Given the description of an element on the screen output the (x, y) to click on. 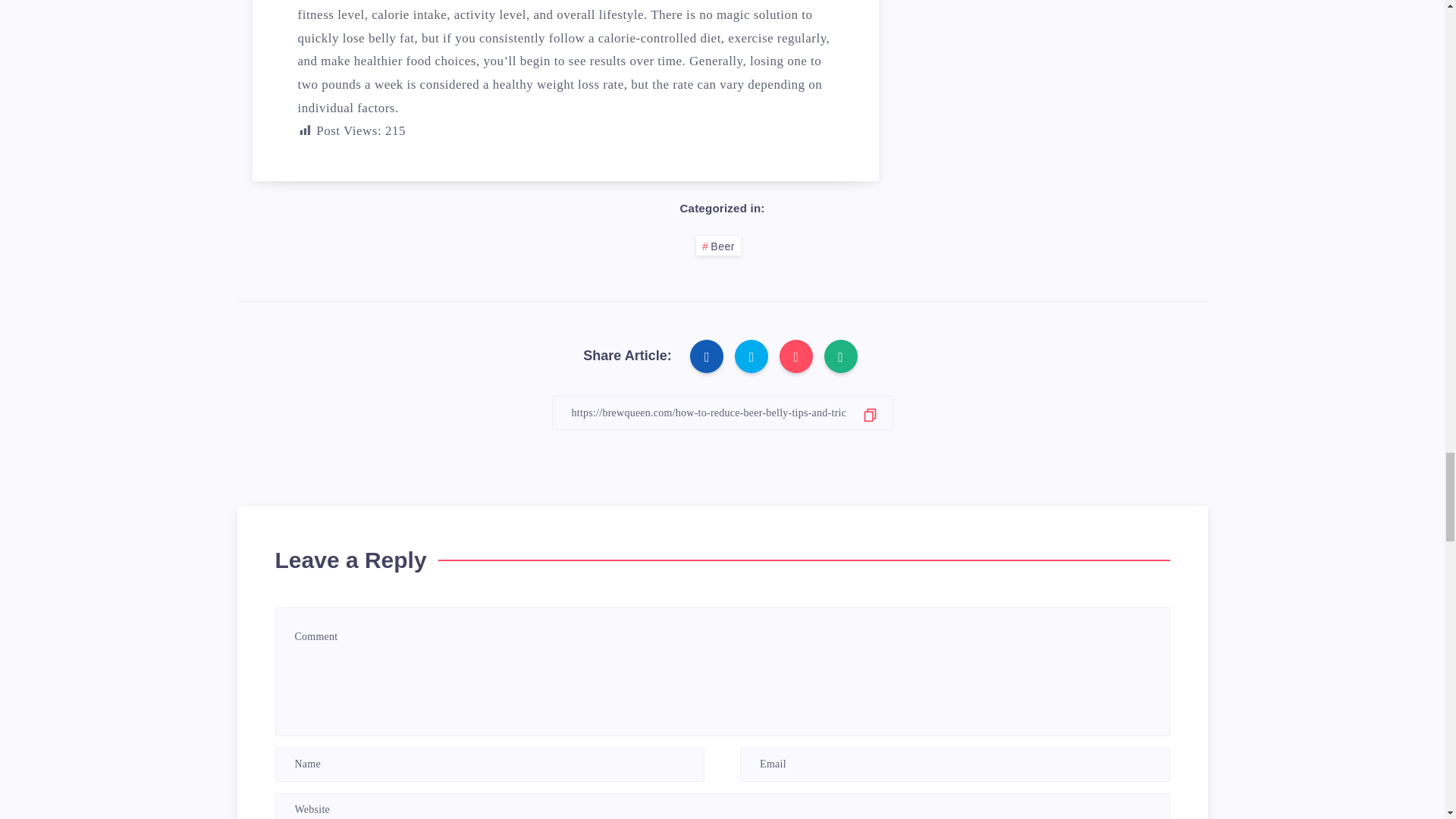
Beer (718, 245)
